Given the description of an element on the screen output the (x, y) to click on. 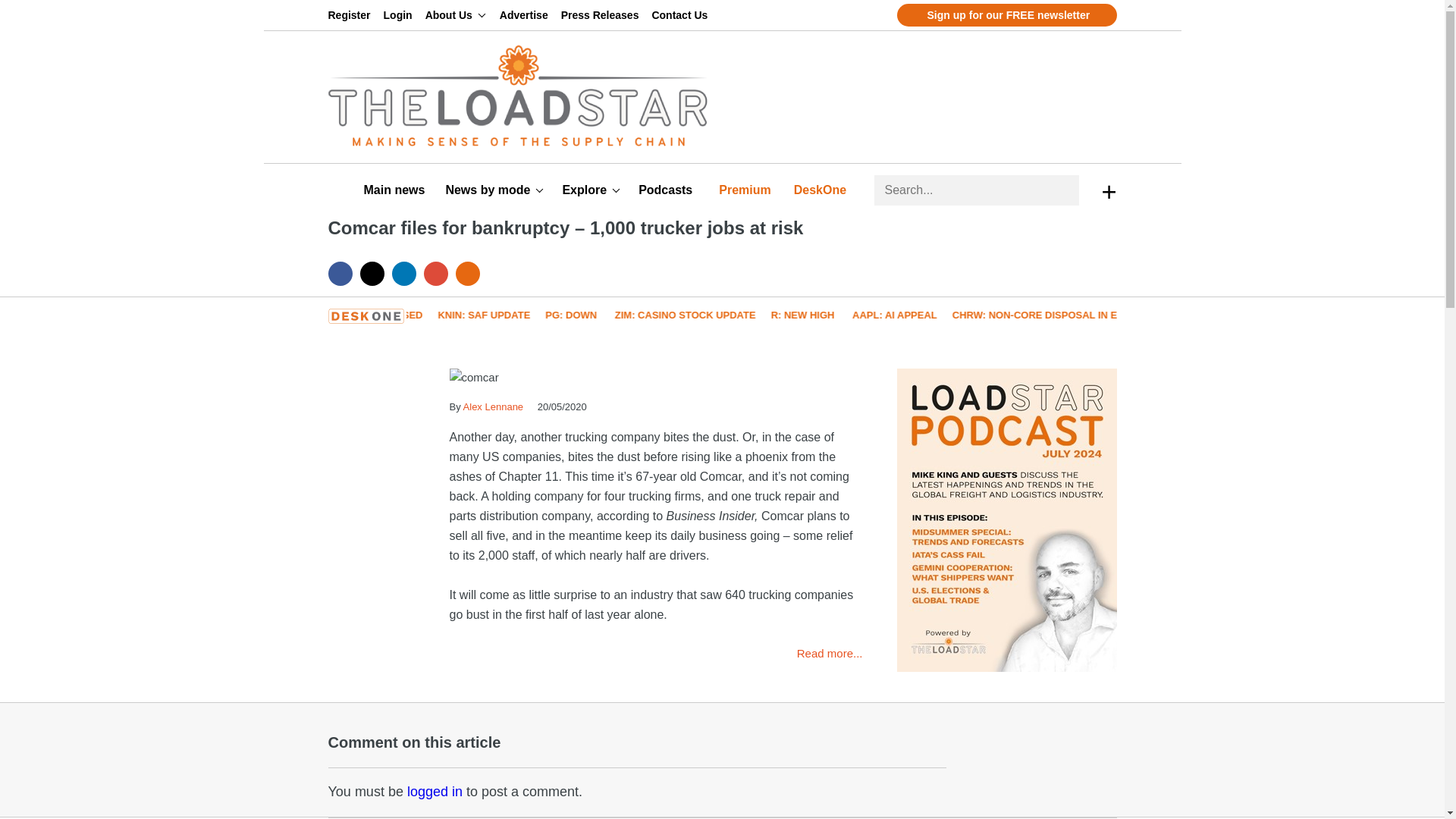
Sign up for our FREE newsletter (1006, 15)
About Us (455, 15)
Contact Us (681, 15)
News by mode (494, 190)
Login (400, 15)
Press Releases (602, 15)
Advertise (526, 15)
About Us (455, 15)
DeskOne (822, 190)
Podcasts (668, 190)
Register (351, 15)
DeskOne (822, 190)
Press Releases (602, 15)
Podcasts (668, 190)
Advertise (526, 15)
